Given the description of an element on the screen output the (x, y) to click on. 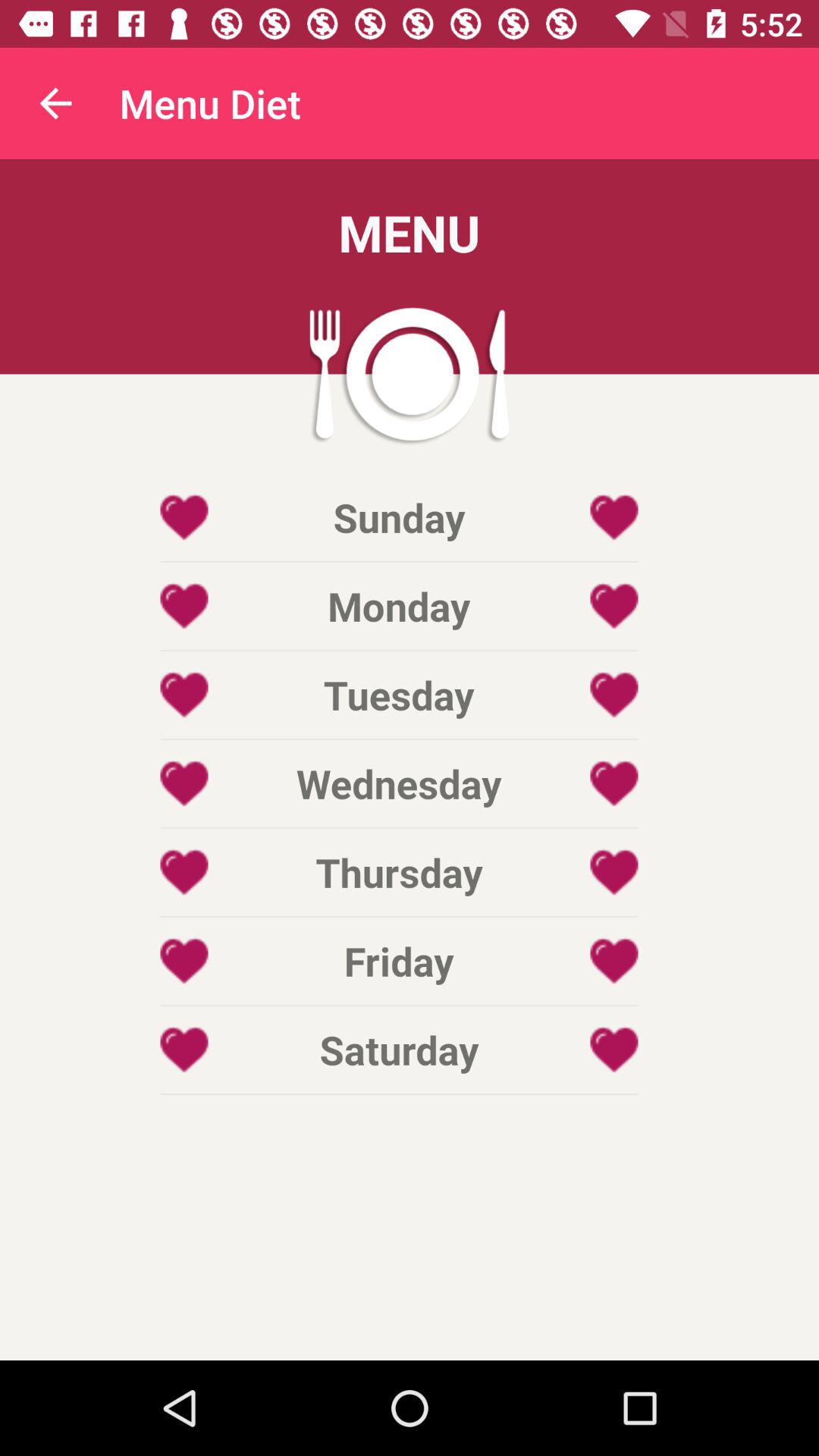
launch the item below friday item (398, 1049)
